Given the description of an element on the screen output the (x, y) to click on. 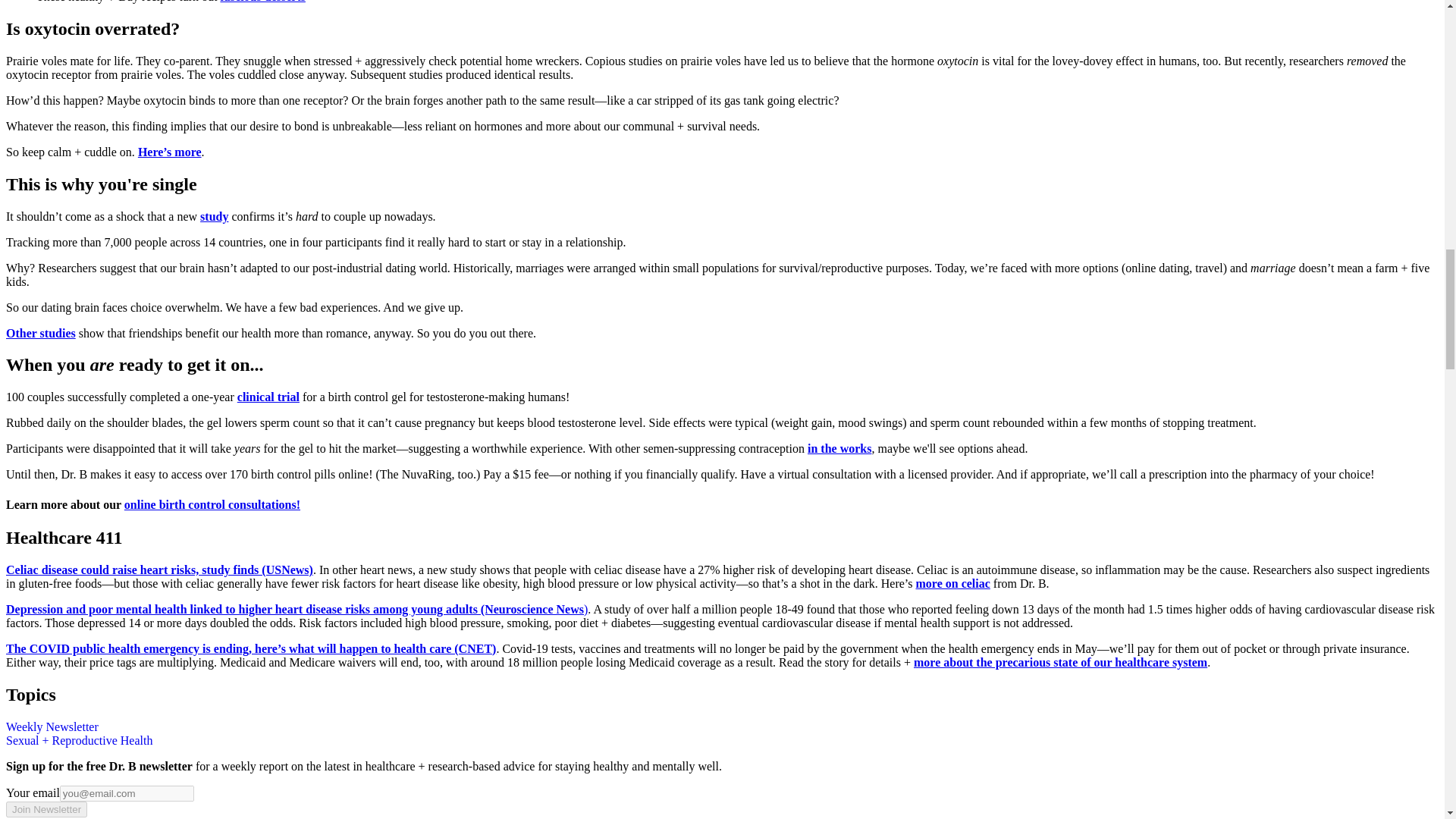
Join Newsletter (46, 809)
online birth control consultations! (211, 504)
clinical trial (268, 396)
luscious desserts (261, 1)
study (214, 215)
more on celiac (952, 583)
more about the precarious state of our healthcare system (1060, 662)
Other studies (40, 332)
in the works (839, 448)
